Given the description of an element on the screen output the (x, y) to click on. 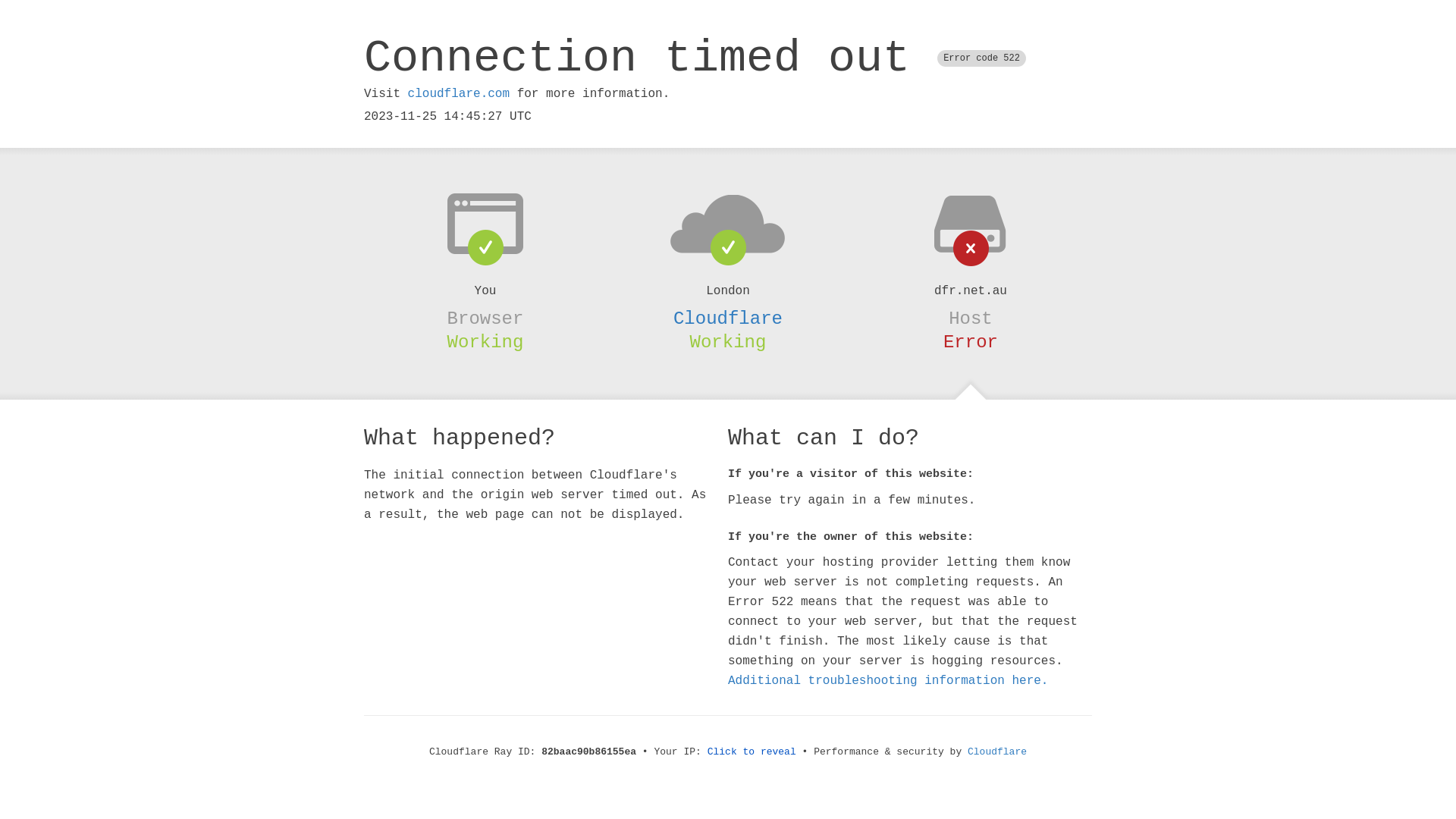
Cloudflare Element type: text (727, 318)
Cloudflare Element type: text (996, 751)
cloudflare.com Element type: text (458, 93)
Click to reveal Element type: text (751, 751)
Additional troubleshooting information here. Element type: text (888, 680)
